Given the description of an element on the screen output the (x, y) to click on. 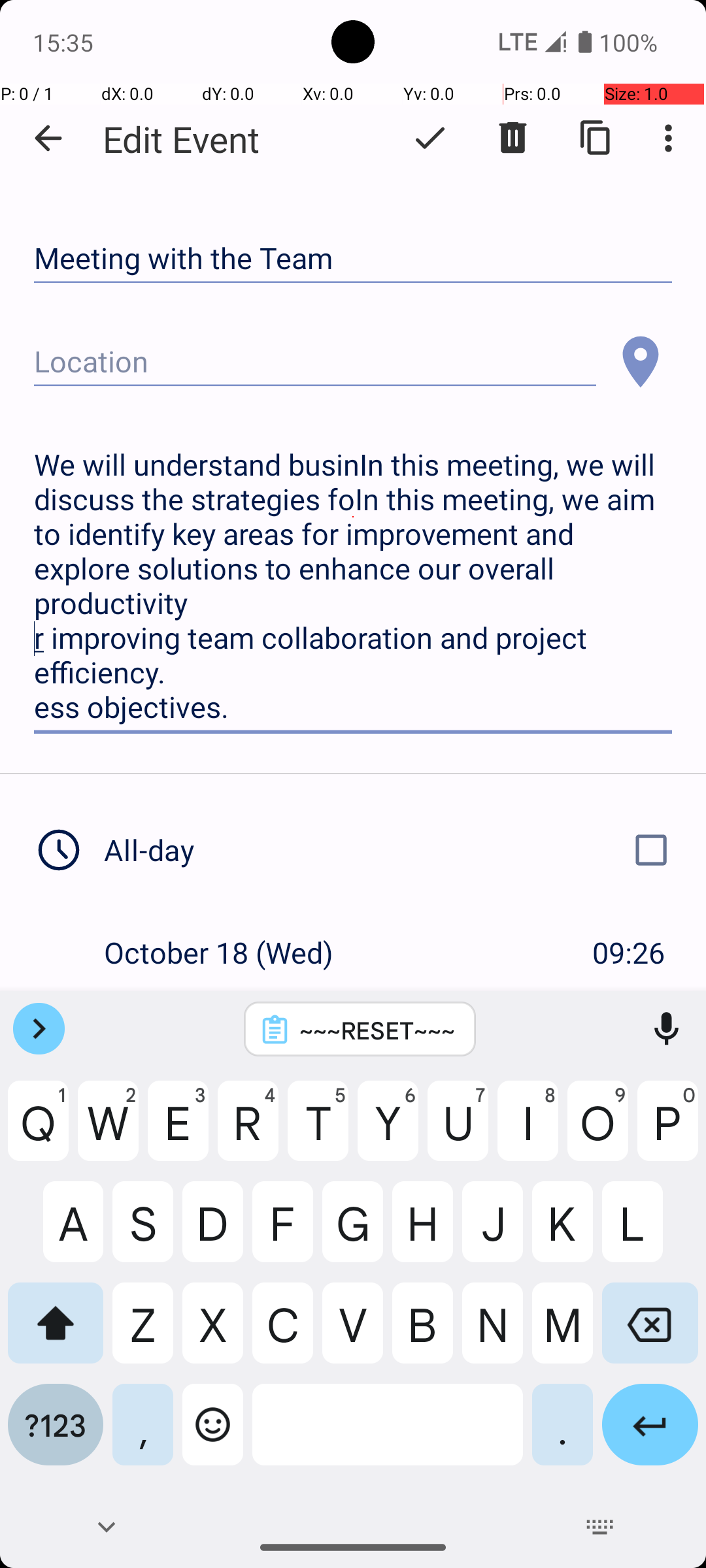
We will understand businIn this meeting, we will discuss the strategies foIn this meeting, we aim to identify key areas for improvement and explore solutions to enhance our overall productivity
r improving team collaboration and project efficiency.
ess objectives. Element type: android.widget.EditText (352, 586)
October 18 (Wed) Element type: android.widget.TextView (232, 951)
09:26 Element type: android.widget.TextView (628, 951)
